Given the description of an element on the screen output the (x, y) to click on. 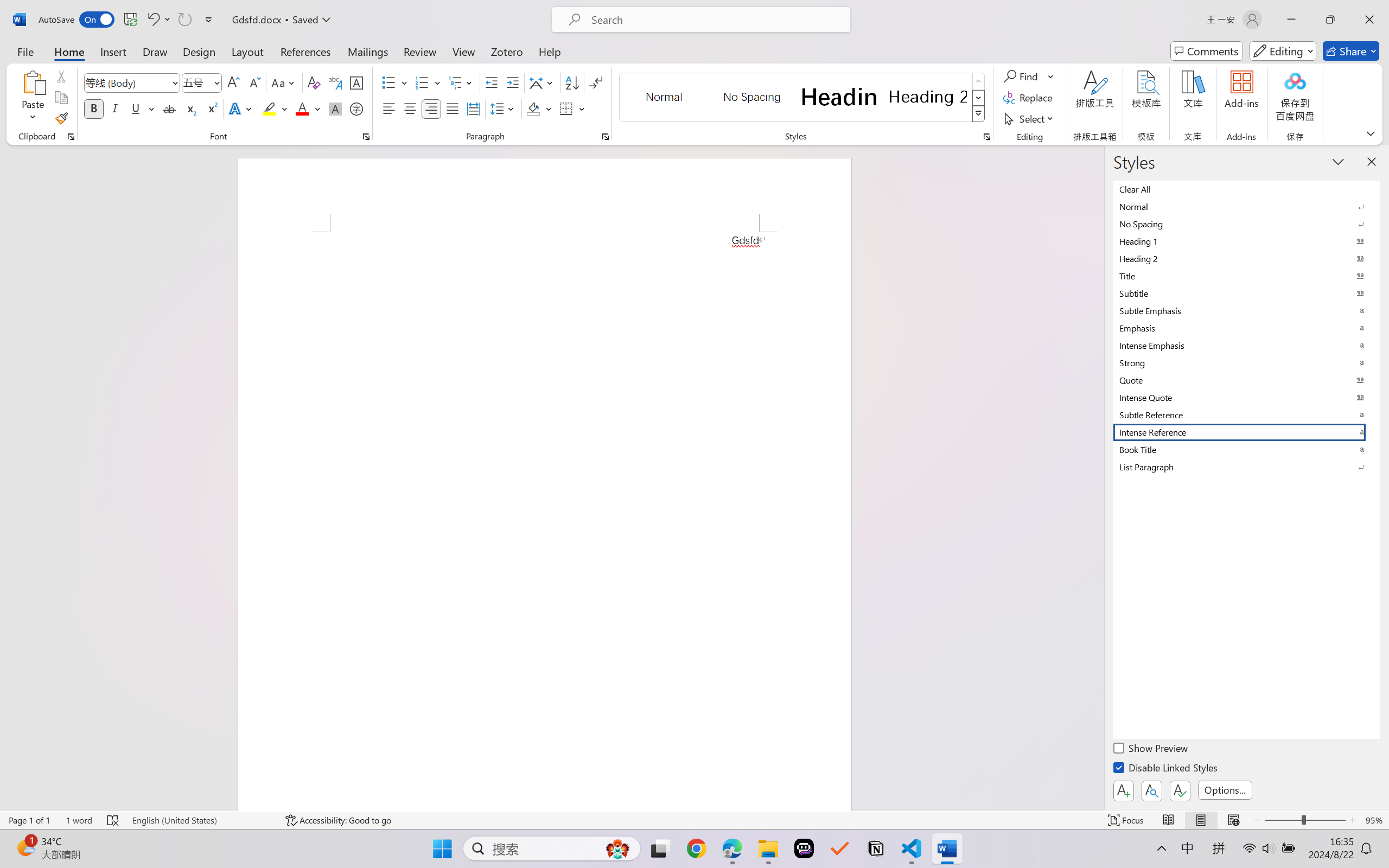
Undo Paragraph Alignment (158, 19)
Disable Linked Styles (1166, 769)
Office Clipboard... (70, 136)
List Paragraph (1246, 466)
Character Border (356, 82)
Row up (978, 81)
Asian Layout (542, 82)
Styles (978, 113)
